Given the description of an element on the screen output the (x, y) to click on. 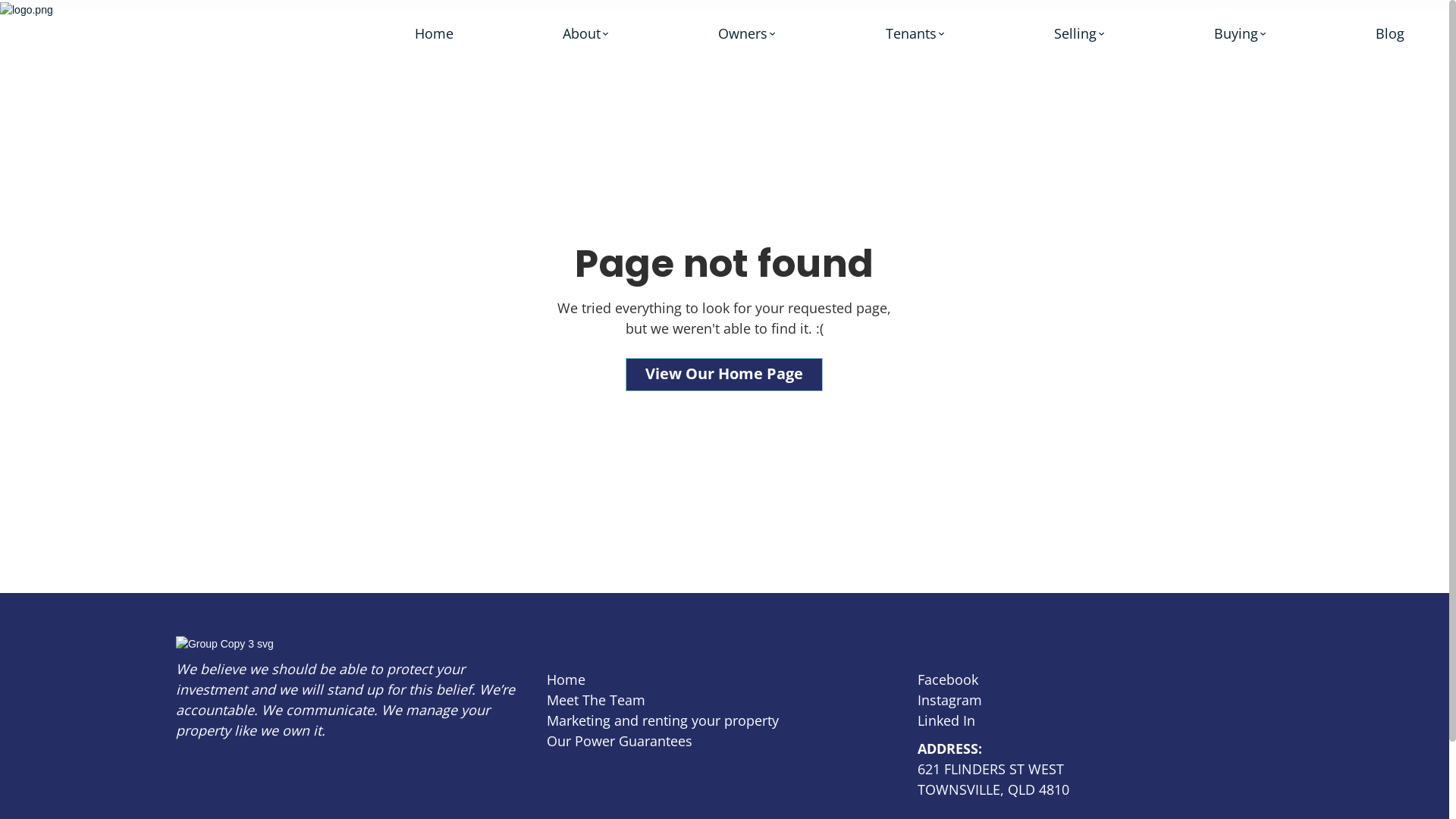
About Element type: text (585, 32)
Linked In Element type: text (946, 720)
Instagram Element type: text (949, 700)
View Our Home Page Element type: text (723, 374)
Meet The Team Element type: text (595, 700)
Marketing and renting your property Element type: text (662, 720)
Blog Element type: text (1389, 32)
Facebook Element type: text (947, 679)
Tenants Element type: text (914, 32)
Home Element type: text (565, 679)
Selling Element type: text (1079, 32)
Buying Element type: text (1240, 32)
Owners Element type: text (746, 32)
Our Power Guarantees Element type: text (619, 741)
Home Element type: text (433, 32)
